Given the description of an element on the screen output the (x, y) to click on. 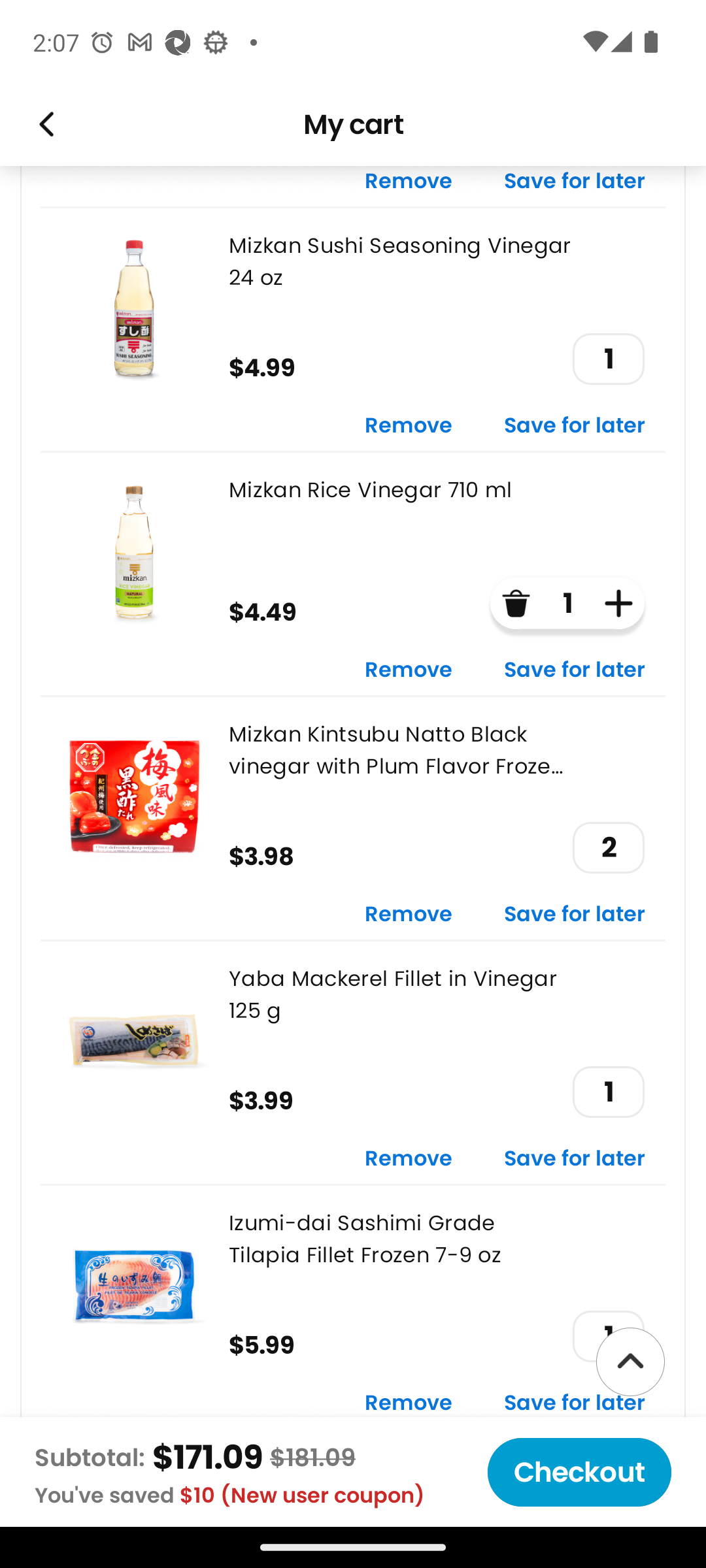
Remove (408, 186)
Save for later (574, 186)
1 (608, 358)
Remove (408, 426)
Save for later (574, 426)
Remove (408, 670)
Save for later (574, 670)
2 (608, 847)
Remove (408, 914)
Save for later (574, 914)
1 (608, 1091)
Remove (408, 1159)
Save for later (574, 1159)
Remove (408, 1403)
Save for later (574, 1403)
Niigata Koshihikari Rice 11 lb (352, 1477)
Checkout (579, 1471)
